Given the description of an element on the screen output the (x, y) to click on. 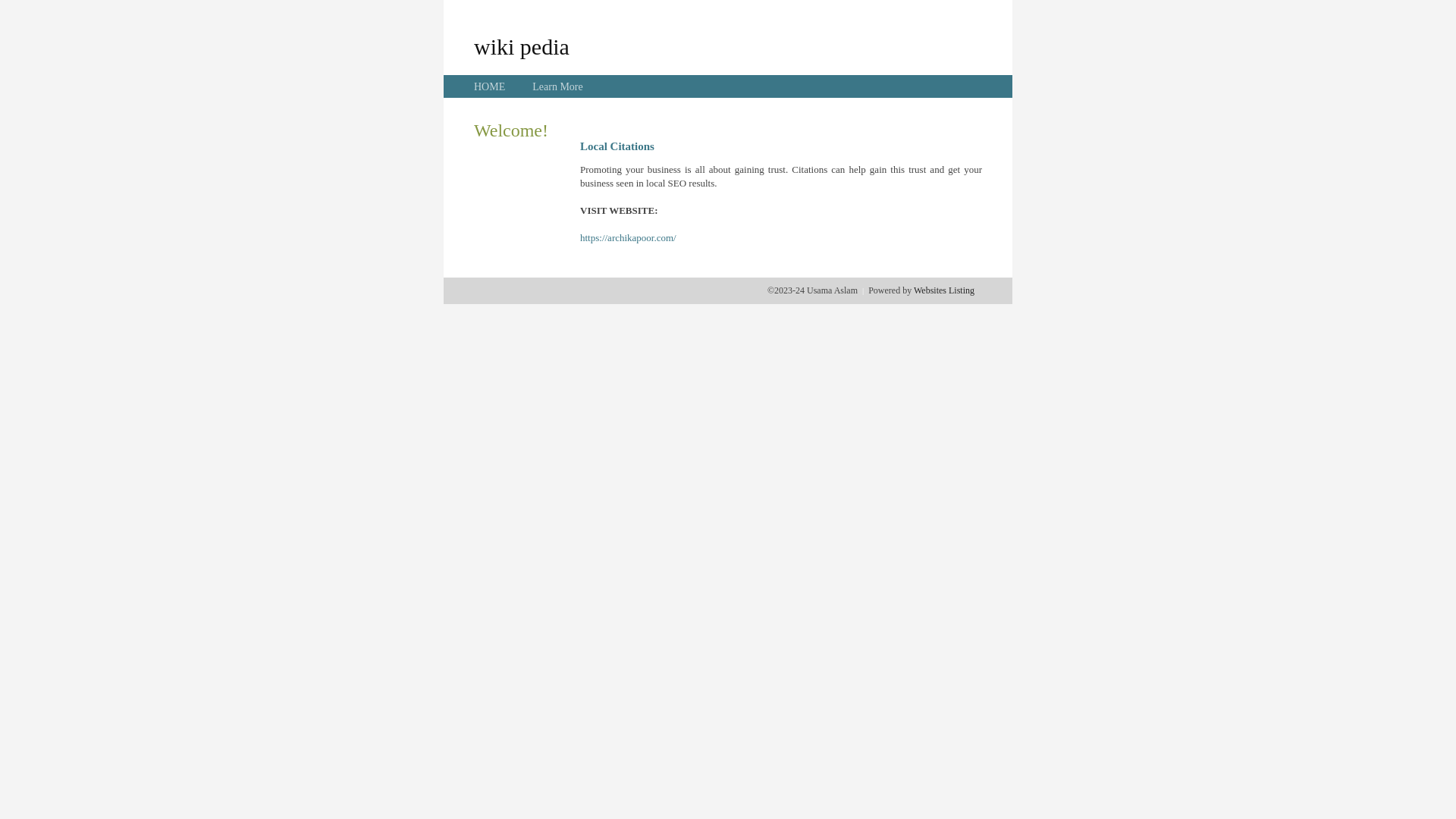
HOME Element type: text (489, 86)
Websites Listing Element type: text (943, 290)
https://archikapoor.com/ Element type: text (628, 237)
wiki pedia Element type: text (521, 46)
Learn More Element type: text (557, 86)
